Given the description of an element on the screen output the (x, y) to click on. 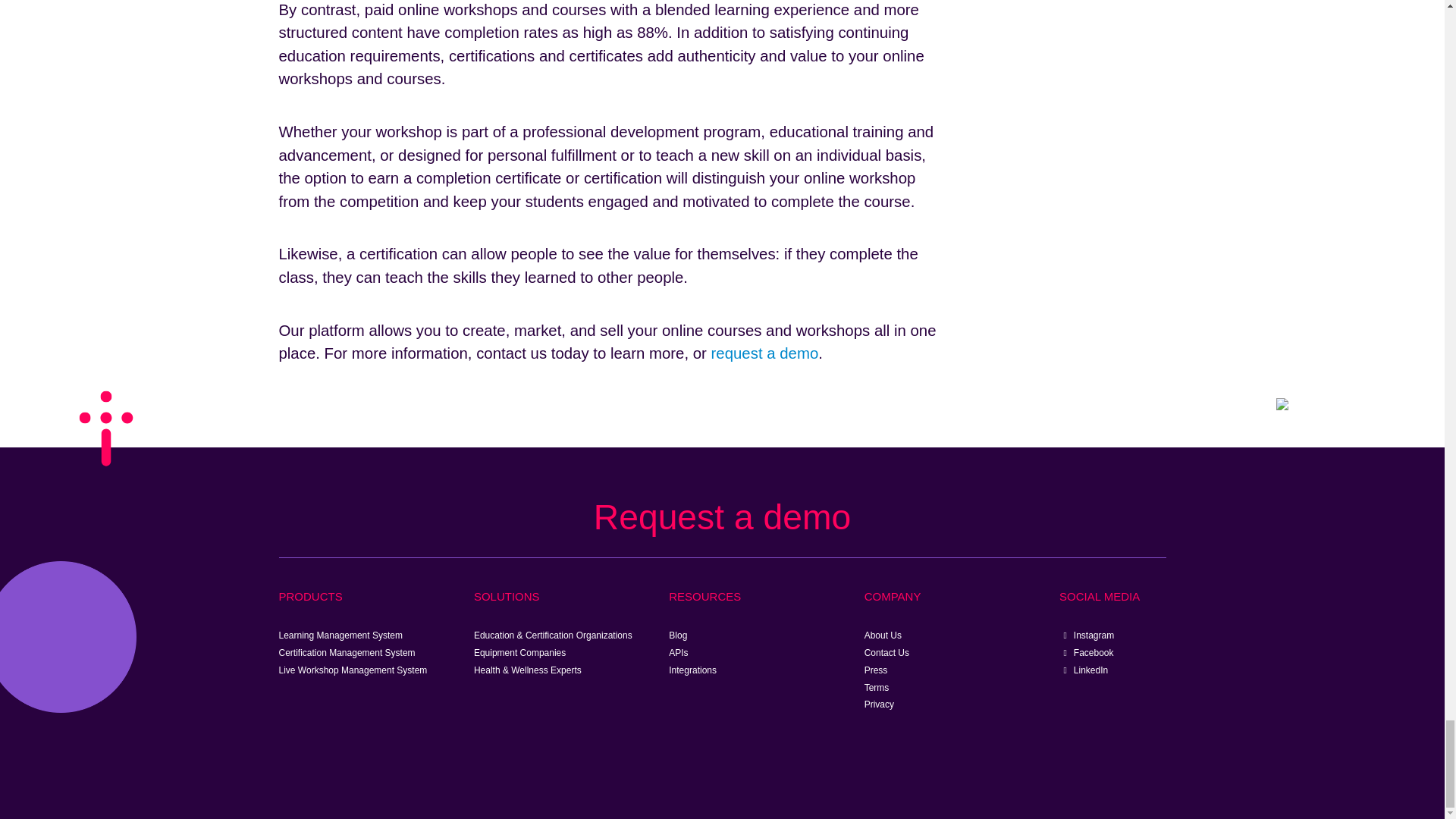
Certification Management System (346, 652)
SOLUTIONS (507, 596)
Live Workshop Management System (353, 670)
request a demo (764, 352)
PRODUCTS (310, 596)
Learning Management System (341, 634)
